Given the description of an element on the screen output the (x, y) to click on. 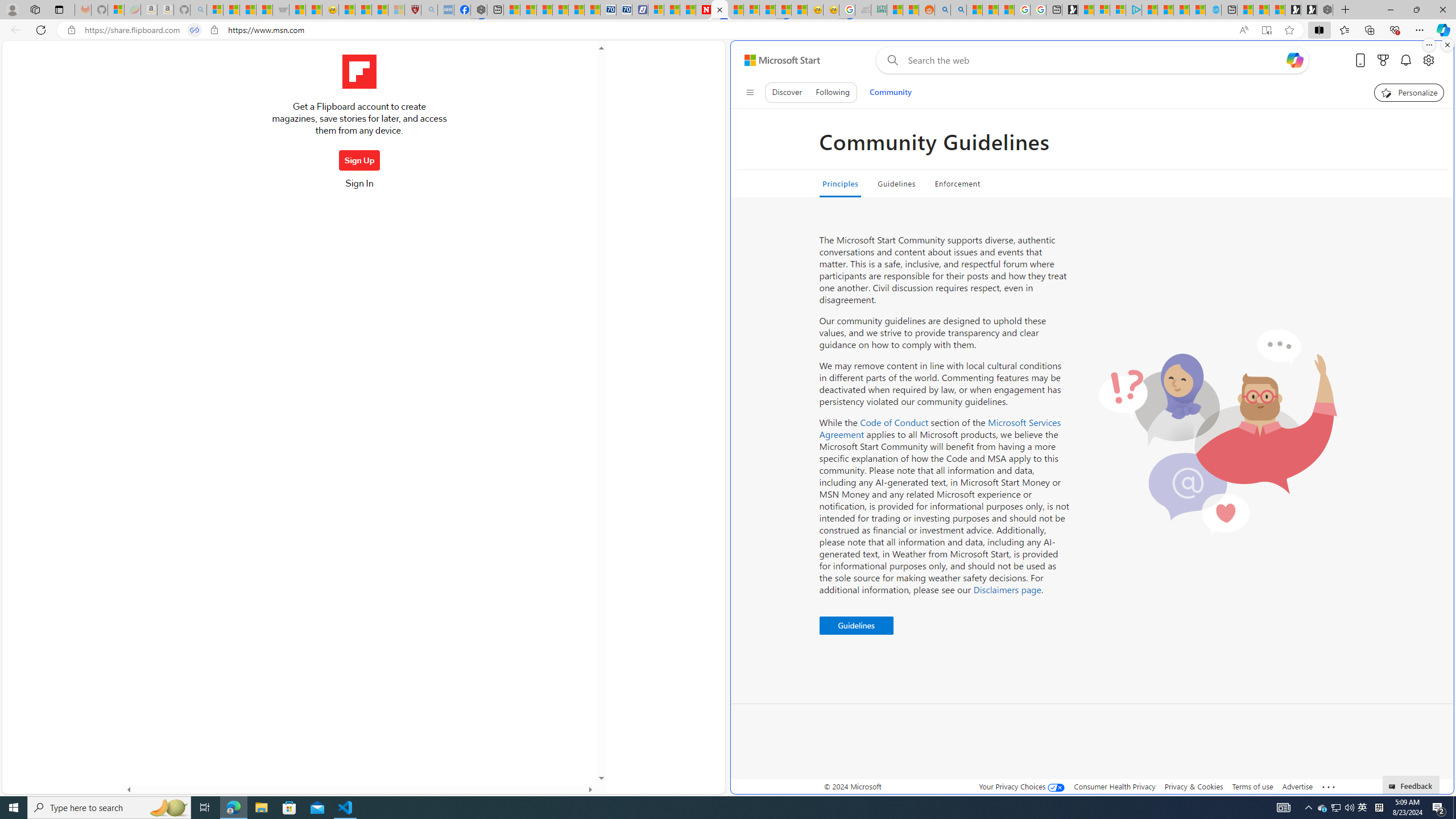
Notifications (1405, 60)
Microsoft rewards (1382, 60)
Enter your search term (1094, 59)
Consumer Health Privacy (1115, 786)
MSNBC - MSN (894, 9)
NCL Adult Asthma Inhaler Choice Guideline - Sleeping (445, 9)
Microsoft Start Gaming (1070, 9)
Microsoft Services Agreement (939, 428)
12 Popular Science Lies that Must be Corrected - Sleeping (395, 9)
